Given the description of an element on the screen output the (x, y) to click on. 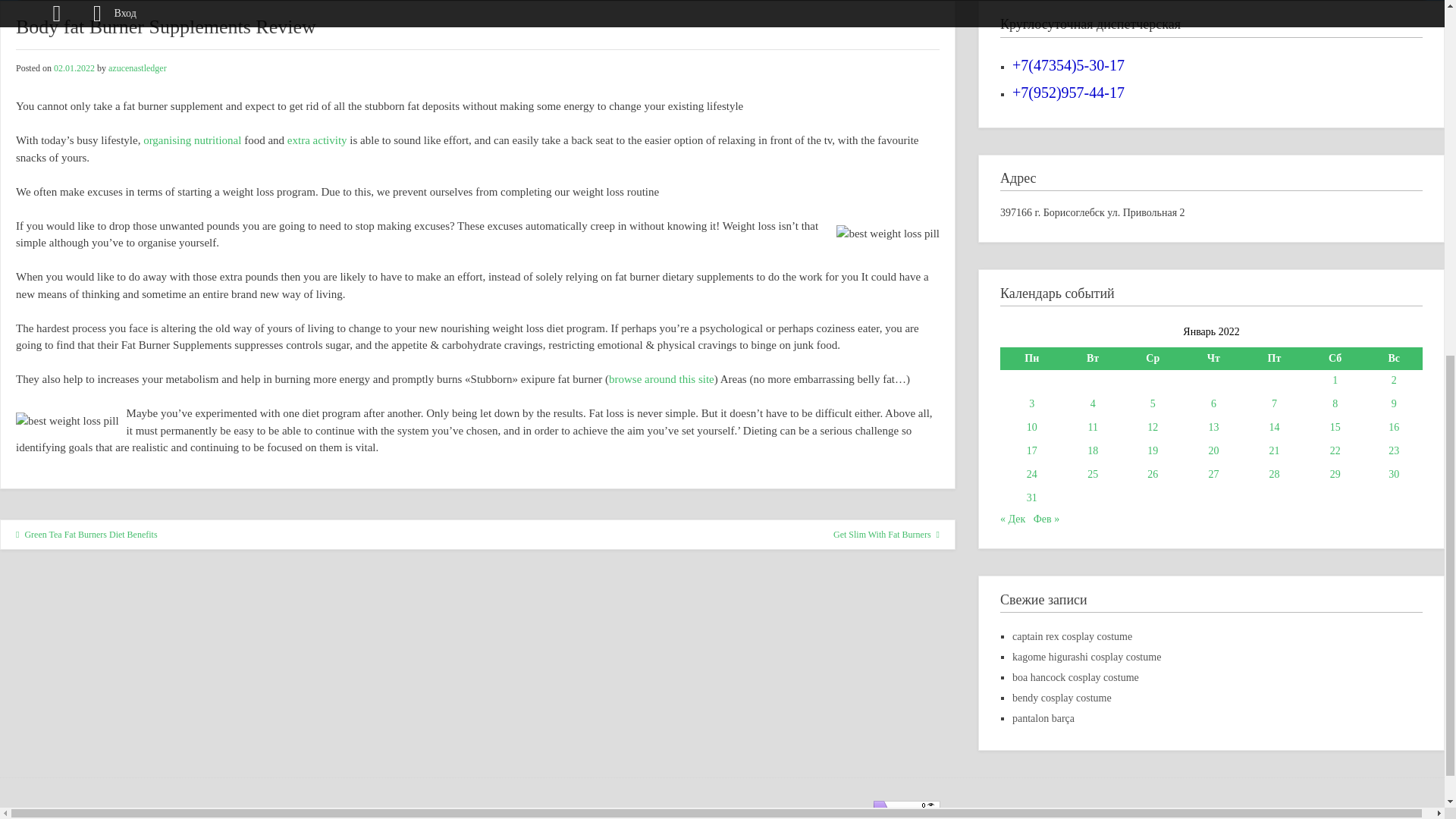
azucenastledger (137, 68)
02.01.2022 (73, 68)
Green Tea Fat Burners Diet Benefits (86, 534)
Get Slim With Fat Burners (885, 534)
organising nutritional (191, 140)
extra activity (316, 140)
browse around this site (661, 378)
